Given the description of an element on the screen output the (x, y) to click on. 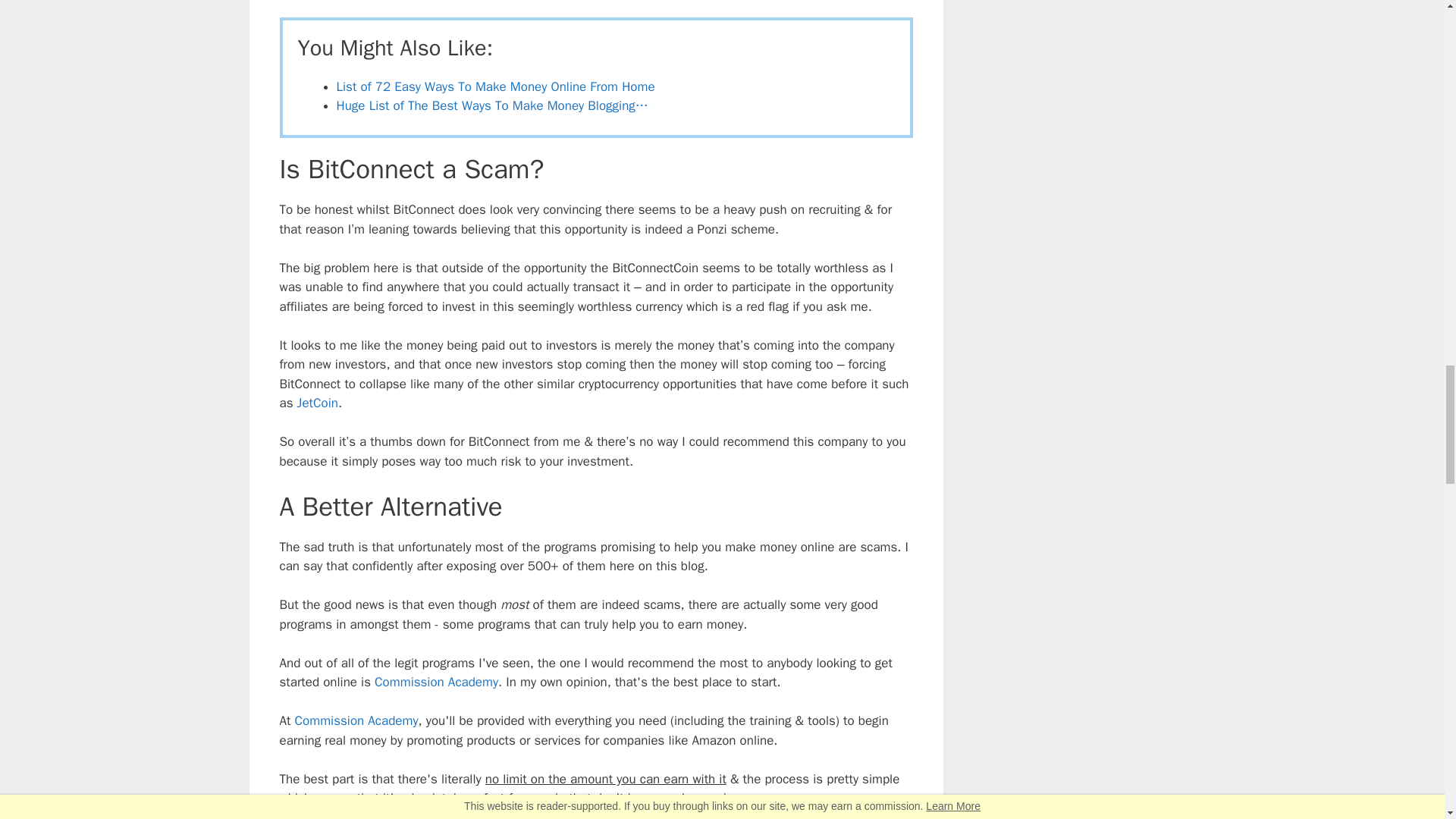
List of 72 Easy Ways To Make Money Online From Home (495, 86)
Commission Academy (357, 720)
Commission Academy (435, 682)
JetCoin (317, 402)
